Given the description of an element on the screen output the (x, y) to click on. 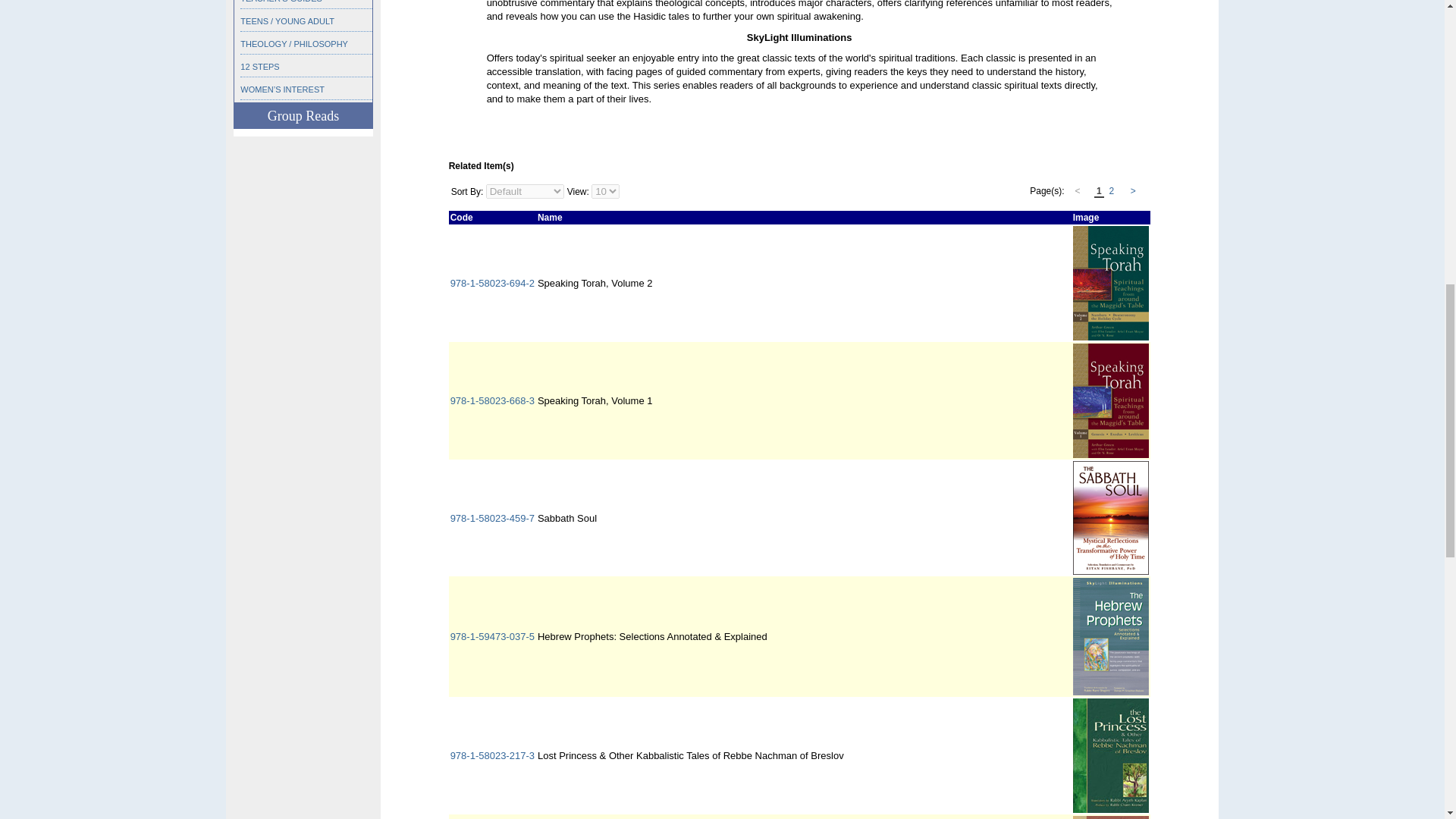
12 STEPS (259, 66)
